Given the description of an element on the screen output the (x, y) to click on. 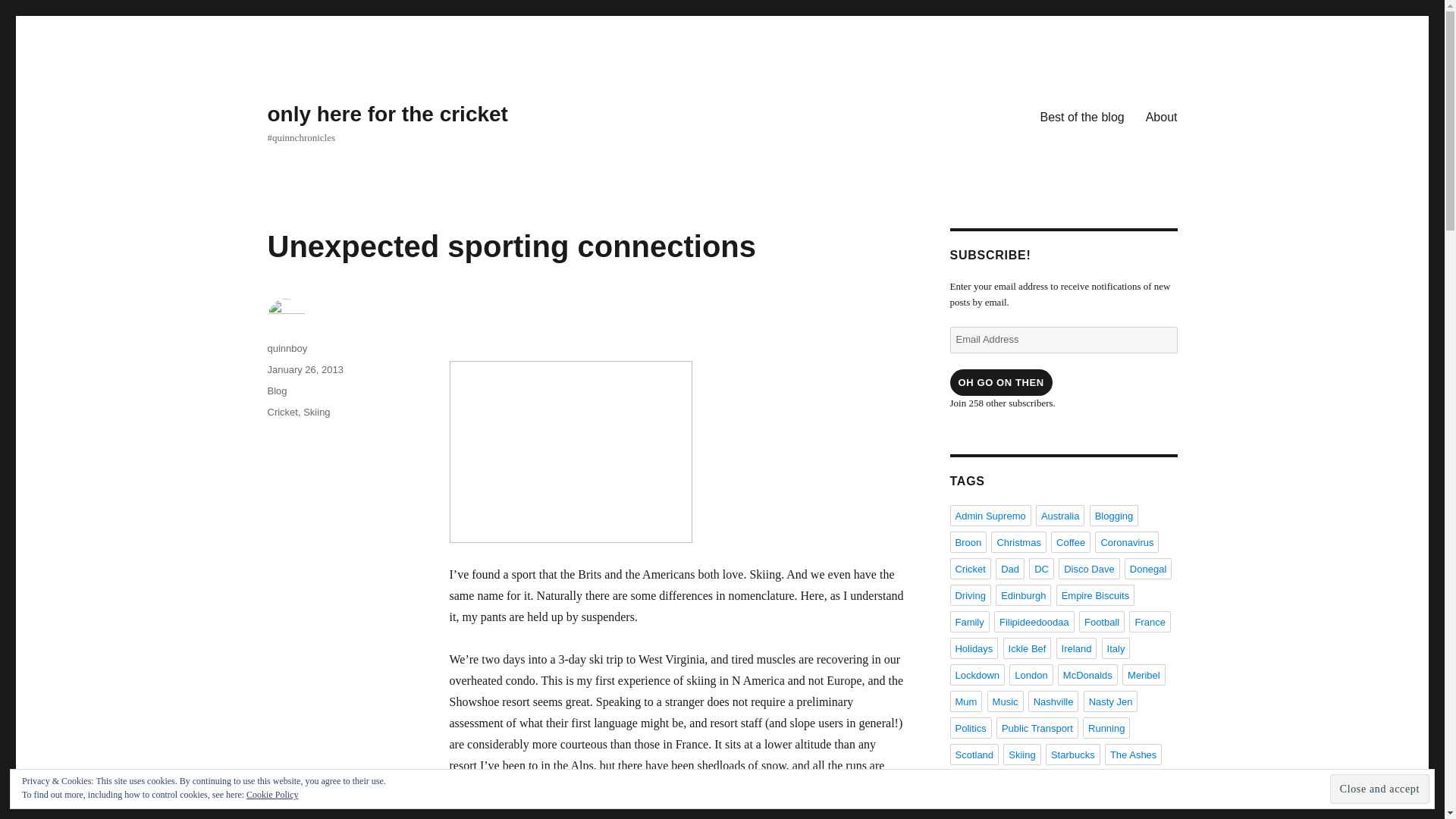
Driving (969, 595)
Filipideedoodaa (1034, 621)
France (1149, 621)
only here for the cricket (386, 114)
Football (1101, 621)
Disco Dave (1088, 568)
Admin Supremo (989, 515)
Cricket (281, 411)
Edinburgh (1023, 595)
Empire Biscuits (1096, 595)
Donegal (1148, 568)
Coronavirus (1126, 541)
Blogging (1113, 515)
Dad (1010, 568)
Coffee (1070, 541)
